Given the description of an element on the screen output the (x, y) to click on. 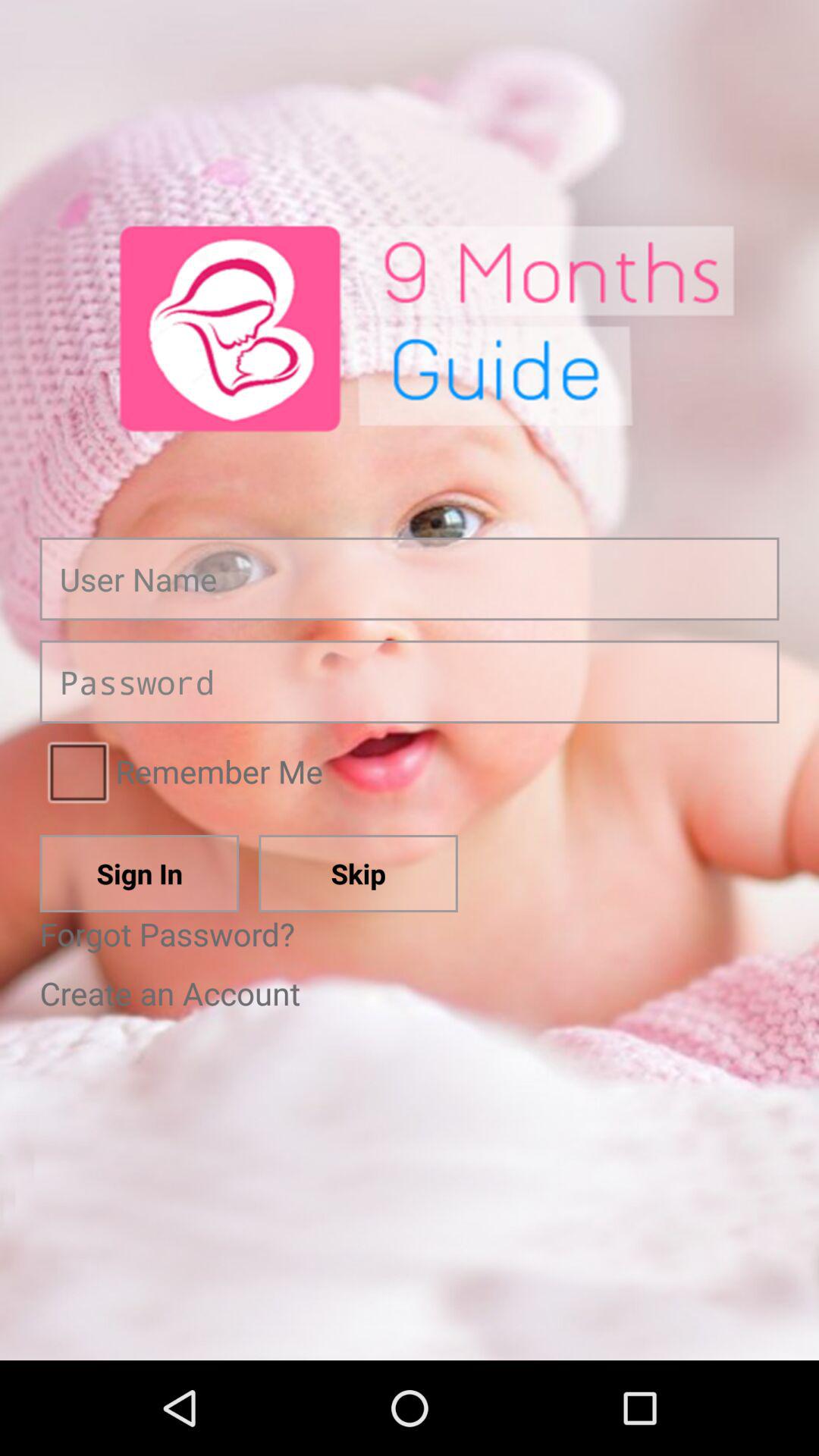
password to given (409, 681)
